Given the description of an element on the screen output the (x, y) to click on. 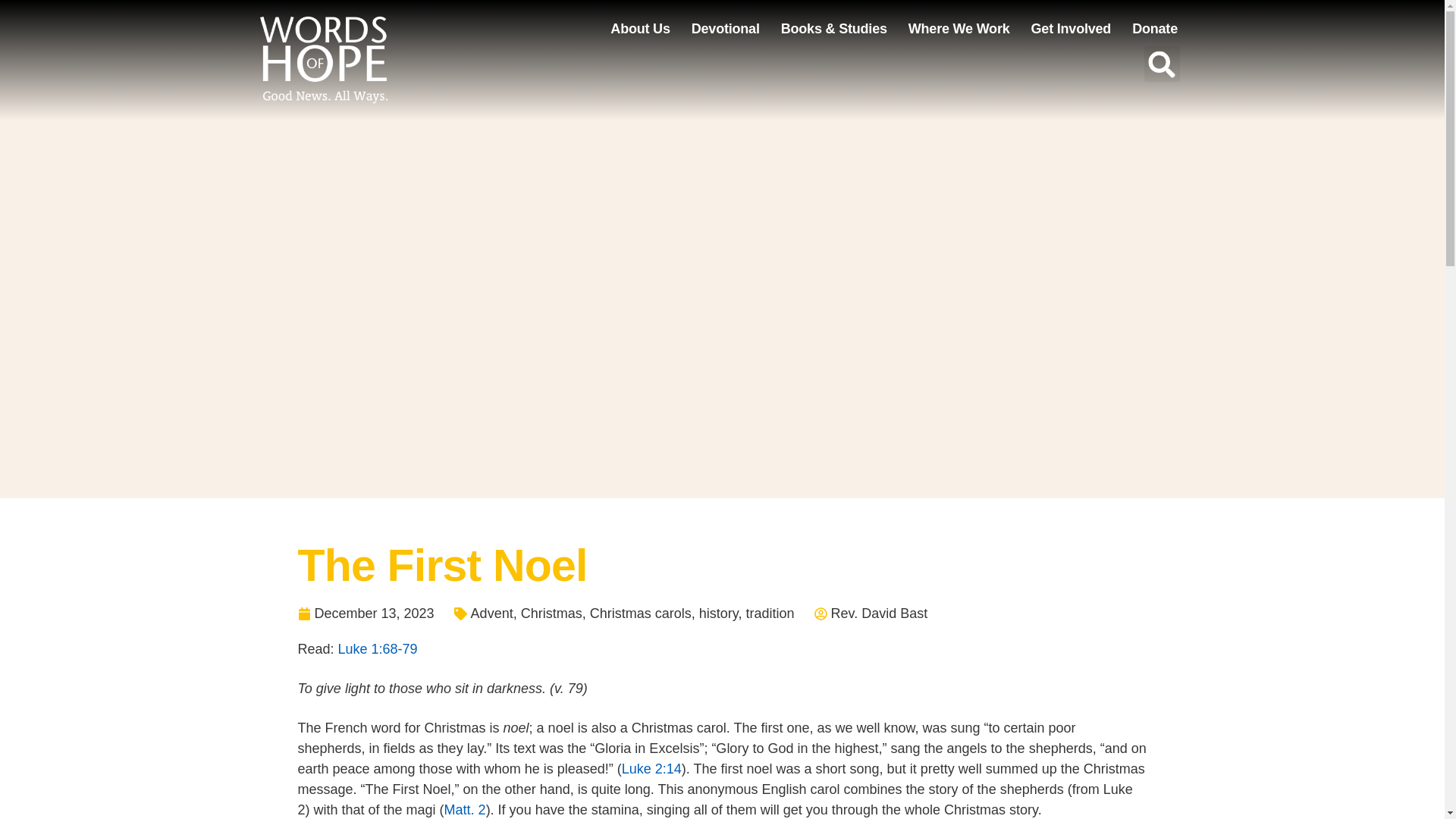
Where We Work (959, 28)
Get Involved (1071, 28)
Devotional (725, 28)
About Us (639, 28)
Donate (1155, 28)
